Given the description of an element on the screen output the (x, y) to click on. 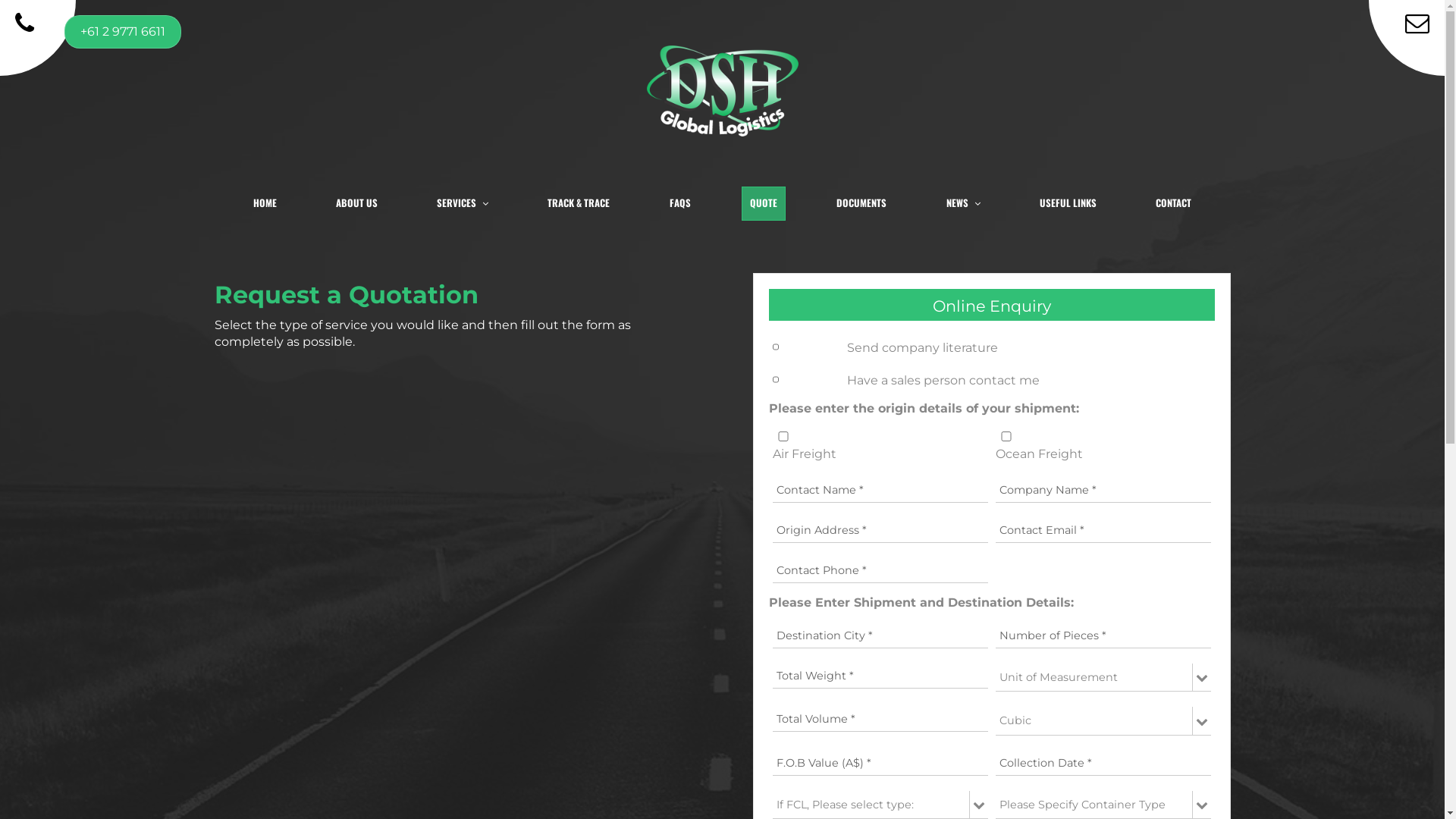
USEFUL LINKS Element type: text (1067, 202)
CONTACT Element type: text (1173, 202)
QUOTE Element type: text (763, 202)
NEWS Element type: text (963, 202)
DOCUMENTS Element type: text (861, 202)
SERVICES Element type: text (462, 202)
TRACK & TRACE Element type: text (578, 202)
ABOUT US Element type: text (356, 202)
HOME Element type: text (264, 202)
FAQS Element type: text (680, 202)
+61 2 9771 6611 Element type: text (144, 25)
